Given the description of an element on the screen output the (x, y) to click on. 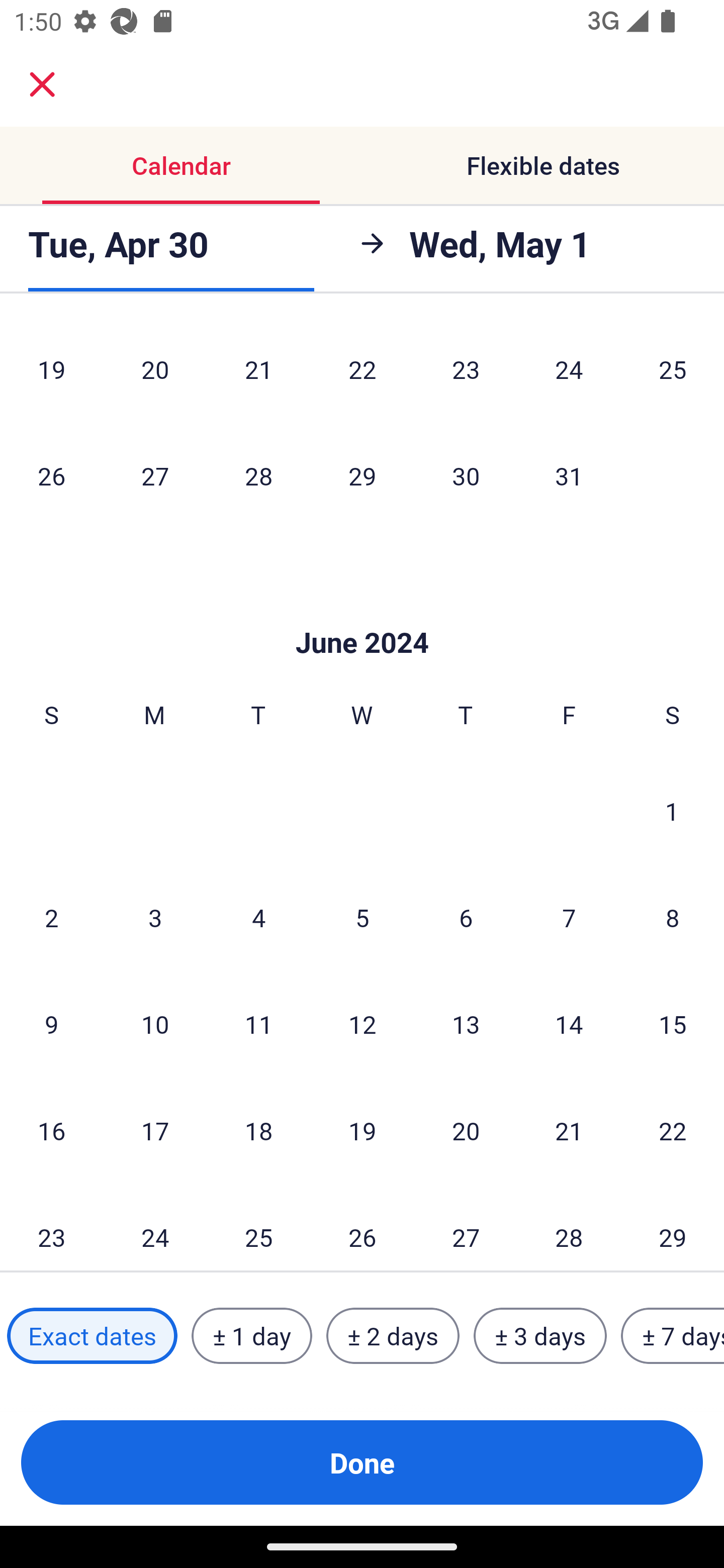
close. (42, 84)
Flexible dates (542, 164)
19 Sunday, May 19, 2024 (51, 370)
20 Monday, May 20, 2024 (155, 370)
21 Tuesday, May 21, 2024 (258, 370)
22 Wednesday, May 22, 2024 (362, 370)
23 Thursday, May 23, 2024 (465, 370)
24 Friday, May 24, 2024 (569, 370)
25 Saturday, May 25, 2024 (672, 370)
26 Sunday, May 26, 2024 (51, 475)
27 Monday, May 27, 2024 (155, 475)
28 Tuesday, May 28, 2024 (258, 475)
29 Wednesday, May 29, 2024 (362, 475)
30 Thursday, May 30, 2024 (465, 475)
31 Friday, May 31, 2024 (569, 475)
Skip to Done (362, 612)
1 Saturday, June 1, 2024 (672, 810)
2 Sunday, June 2, 2024 (51, 917)
3 Monday, June 3, 2024 (155, 917)
4 Tuesday, June 4, 2024 (258, 917)
5 Wednesday, June 5, 2024 (362, 917)
6 Thursday, June 6, 2024 (465, 917)
7 Friday, June 7, 2024 (569, 917)
8 Saturday, June 8, 2024 (672, 917)
9 Sunday, June 9, 2024 (51, 1023)
10 Monday, June 10, 2024 (155, 1023)
11 Tuesday, June 11, 2024 (258, 1023)
12 Wednesday, June 12, 2024 (362, 1023)
13 Thursday, June 13, 2024 (465, 1023)
14 Friday, June 14, 2024 (569, 1023)
15 Saturday, June 15, 2024 (672, 1023)
16 Sunday, June 16, 2024 (51, 1130)
17 Monday, June 17, 2024 (155, 1130)
18 Tuesday, June 18, 2024 (258, 1130)
19 Wednesday, June 19, 2024 (362, 1130)
20 Thursday, June 20, 2024 (465, 1130)
21 Friday, June 21, 2024 (569, 1130)
22 Saturday, June 22, 2024 (672, 1130)
23 Sunday, June 23, 2024 (51, 1227)
24 Monday, June 24, 2024 (155, 1227)
25 Tuesday, June 25, 2024 (258, 1227)
26 Wednesday, June 26, 2024 (362, 1227)
27 Thursday, June 27, 2024 (465, 1227)
28 Friday, June 28, 2024 (569, 1227)
29 Saturday, June 29, 2024 (672, 1227)
Exact dates (92, 1335)
± 1 day (251, 1335)
± 2 days (392, 1335)
± 3 days (539, 1335)
± 7 days (672, 1335)
Done (361, 1462)
